Given the description of an element on the screen output the (x, y) to click on. 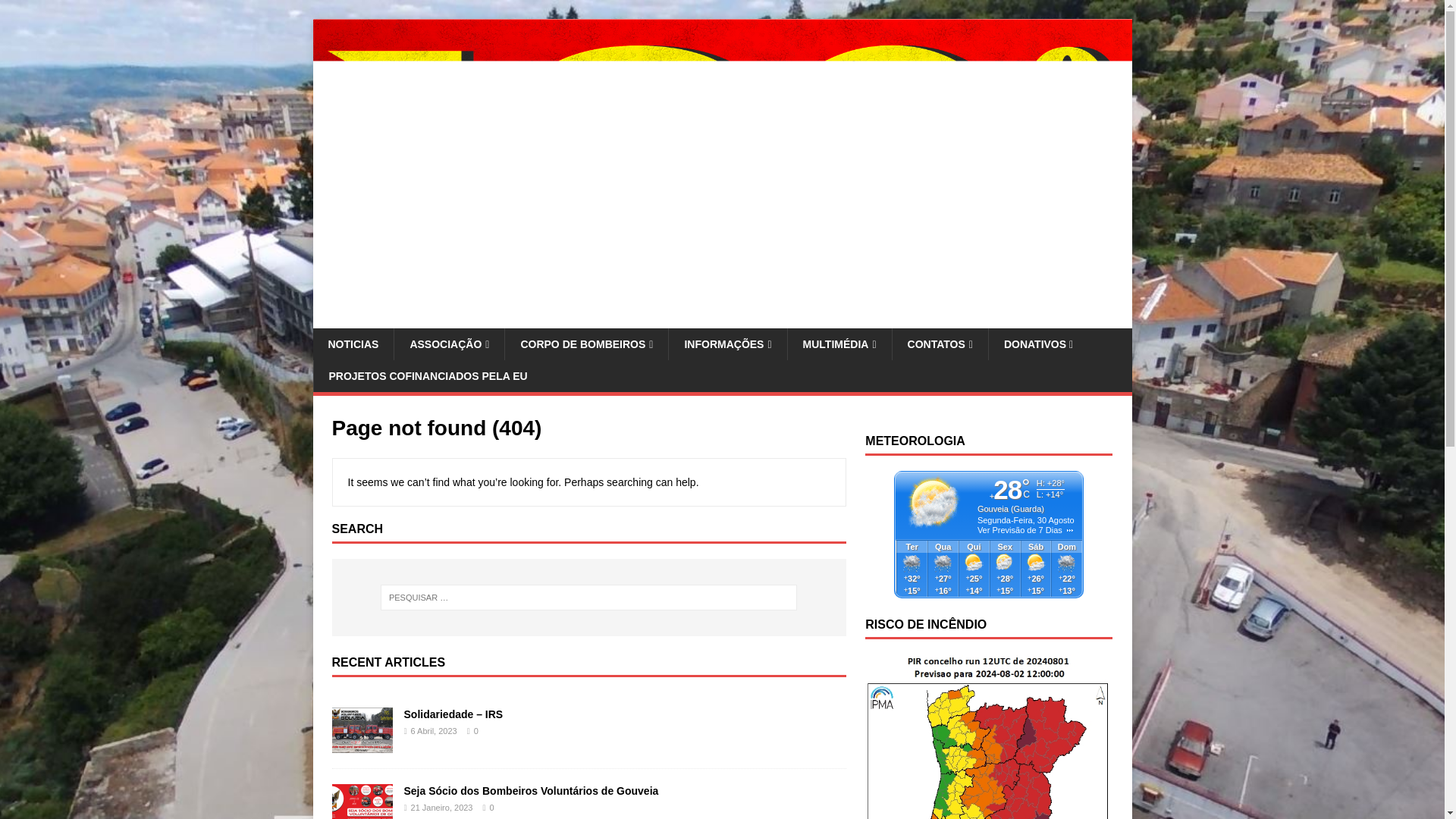
Bombeiros de Gouveia (722, 318)
